Given the description of an element on the screen output the (x, y) to click on. 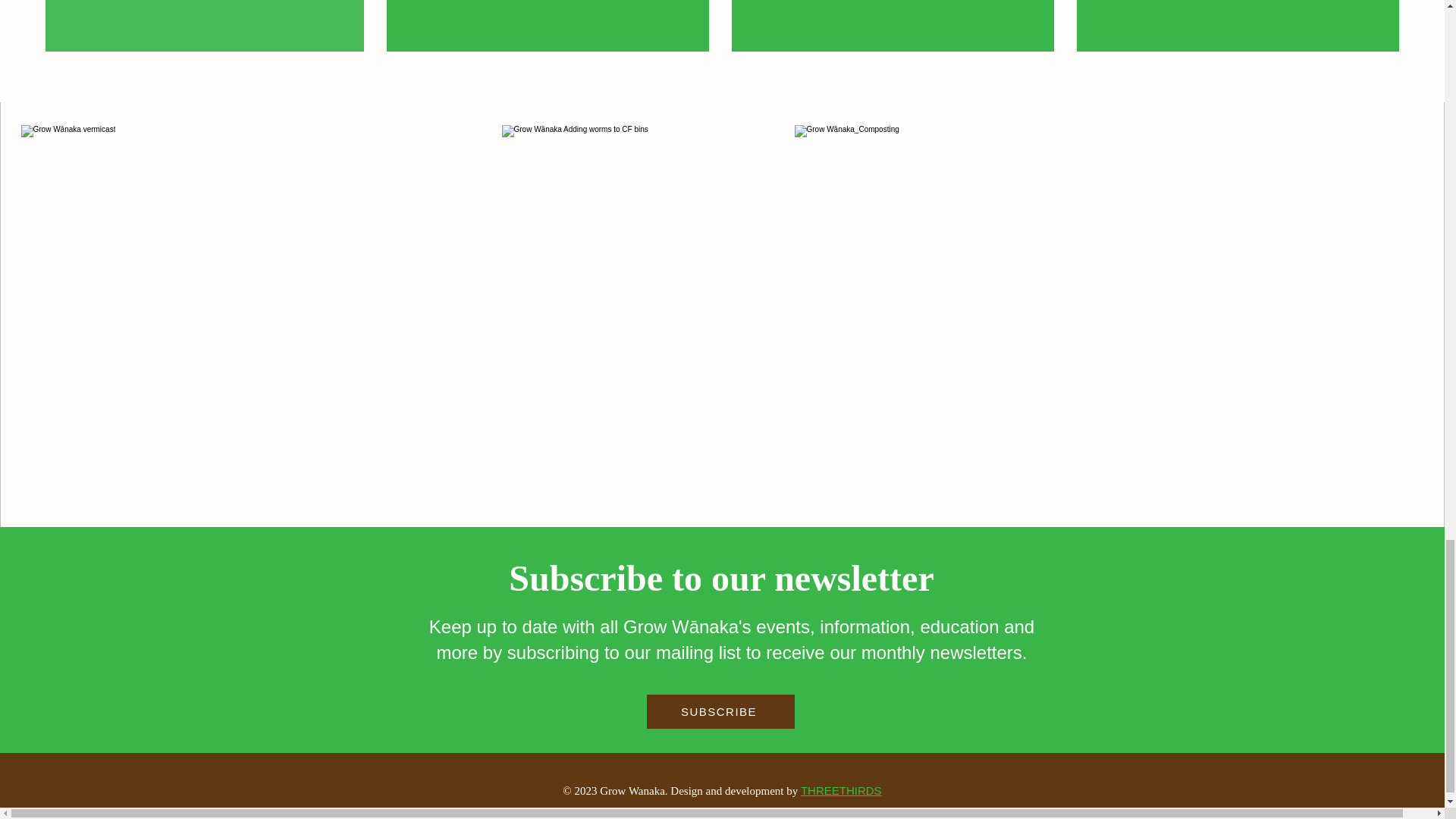
THREETHIRDS (841, 789)
SUBSCRIBE (719, 711)
